Given the description of an element on the screen output the (x, y) to click on. 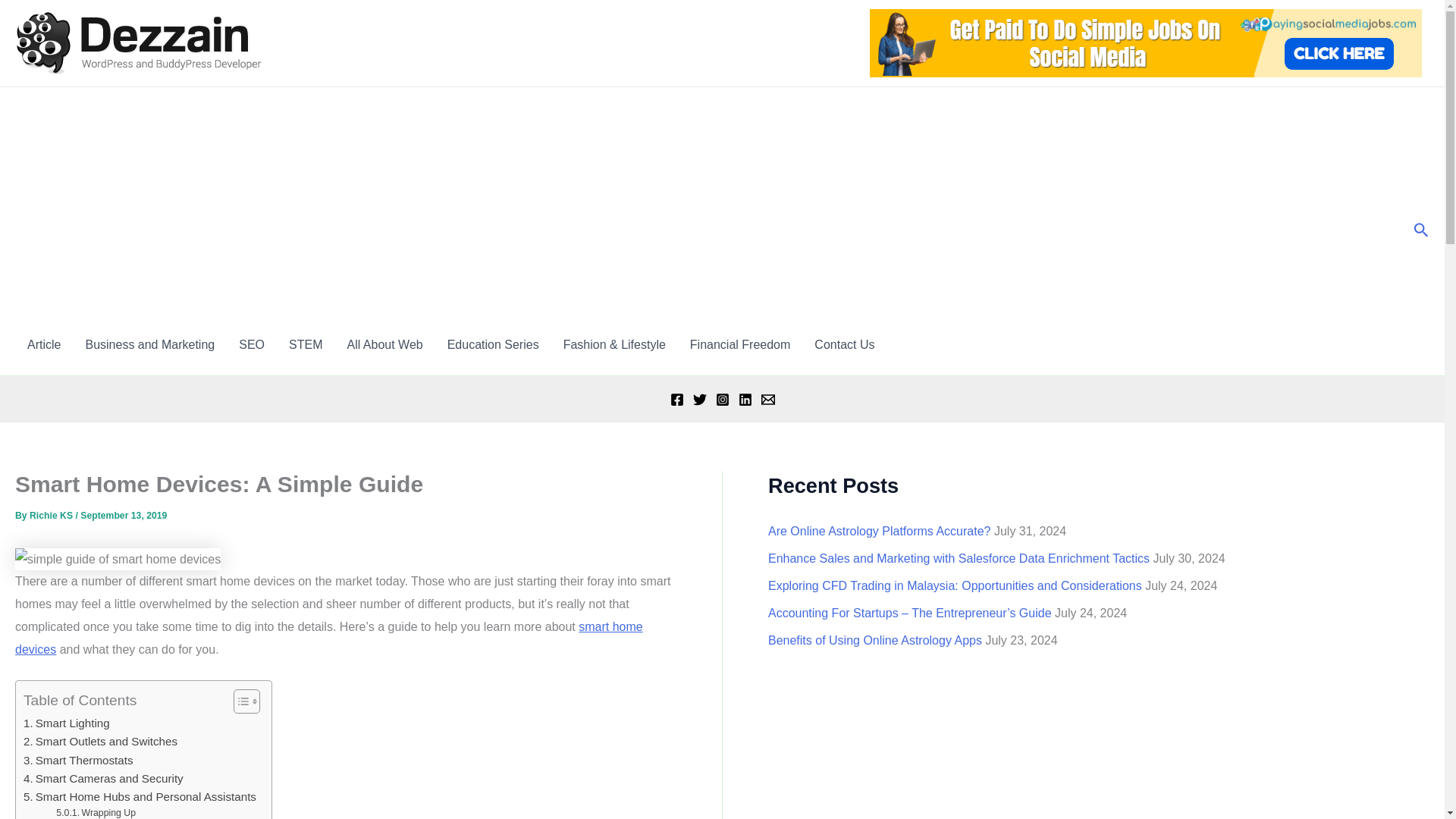
smart home devices (328, 637)
Article (43, 344)
Richie KS (52, 515)
Smart Outlets and Switches (100, 741)
Smart Thermostats (78, 760)
STEM (305, 344)
Contact Us (844, 344)
Smart Thermostats (78, 760)
Smart Lighting (66, 723)
Smart Home Hubs and Personal Assistants (139, 796)
Wrapping Up (95, 812)
Smart Home Hubs and Personal Assistants (139, 796)
Smart Cameras and Security (103, 778)
All About Web (383, 344)
Smart Cameras and Security (103, 778)
